Given the description of an element on the screen output the (x, y) to click on. 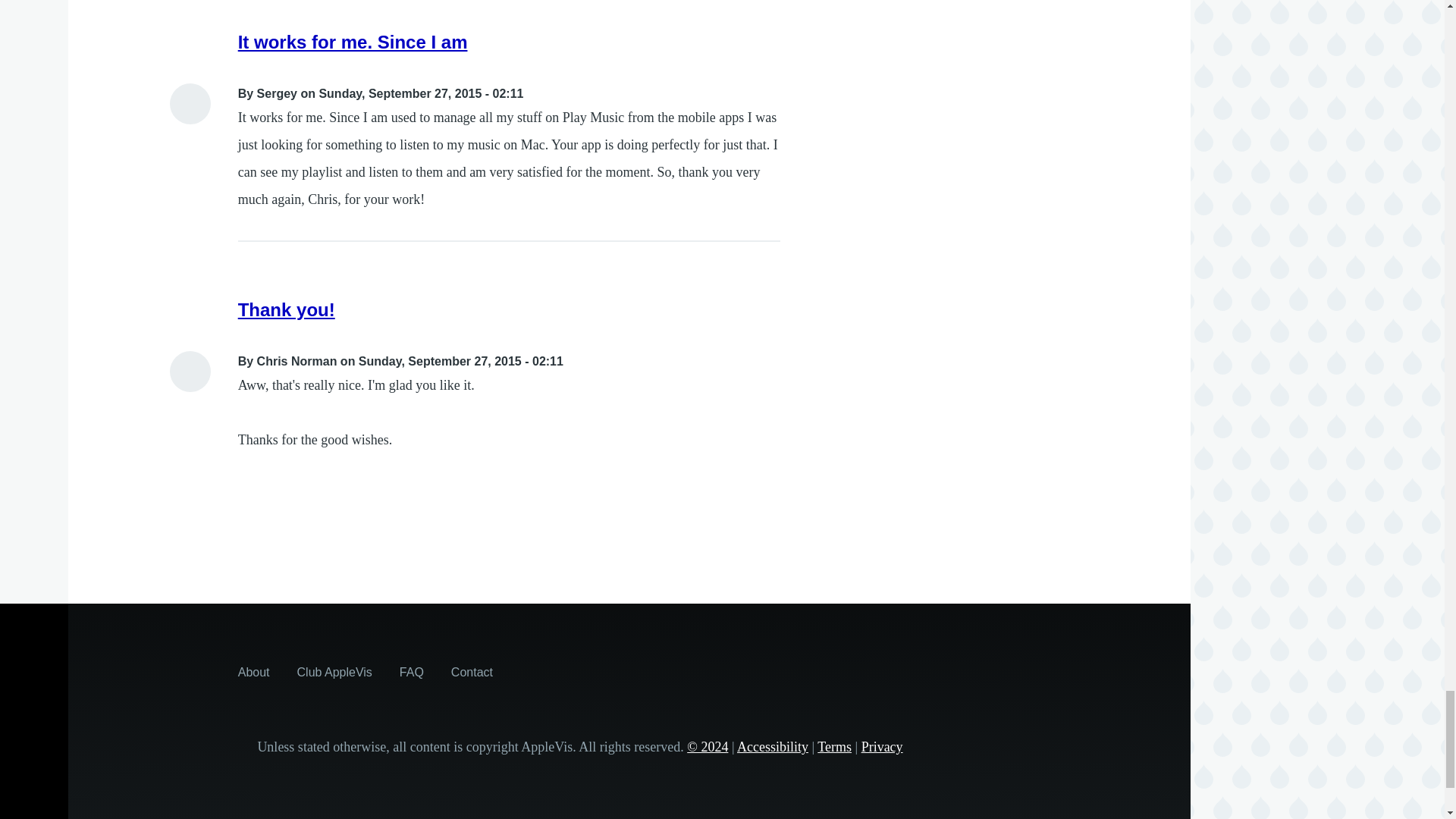
Answers to some frequently asked questions about AppleVis (410, 671)
About (253, 671)
